Given the description of an element on the screen output the (x, y) to click on. 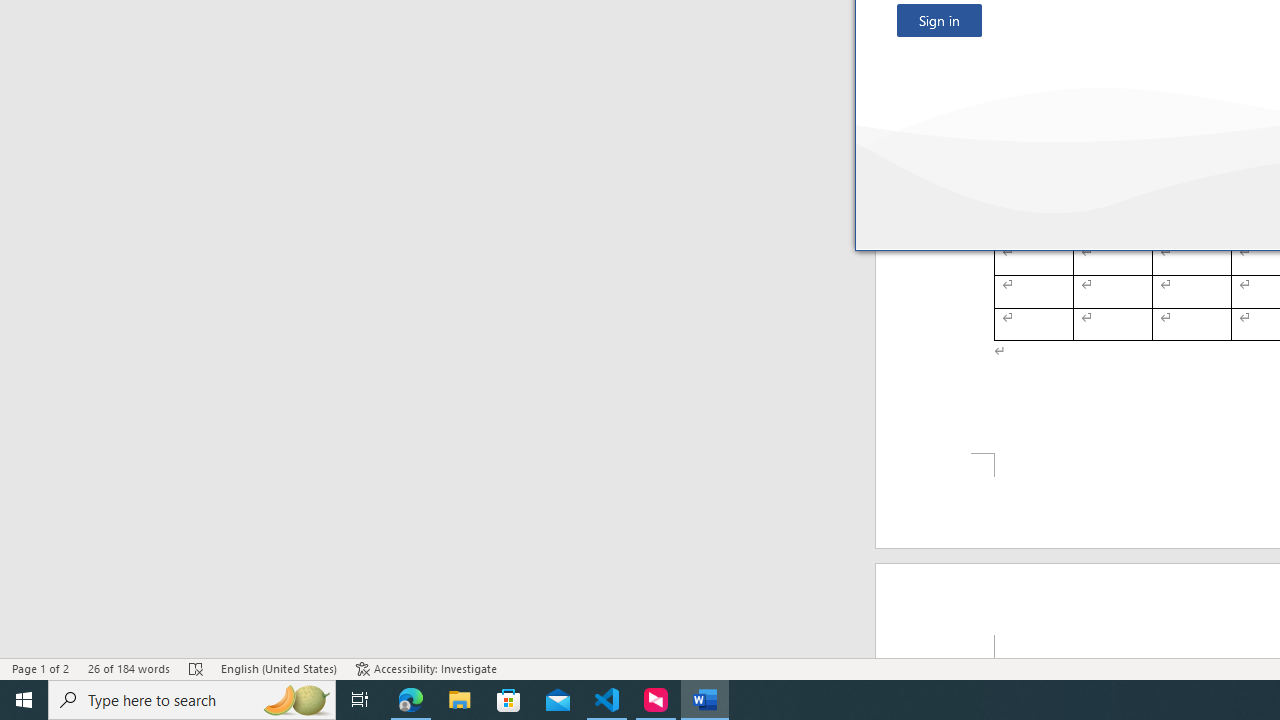
Type here to search (191, 699)
Visual Studio Code - 1 running window (607, 699)
Word - 1 running window (704, 699)
Page Number Page 1 of 2 (39, 668)
File Explorer (460, 699)
Spelling and Grammar Check Errors (196, 668)
Microsoft Store (509, 699)
Task View (359, 699)
Start (24, 699)
Search highlights icon opens search home window (295, 699)
